Given the description of an element on the screen output the (x, y) to click on. 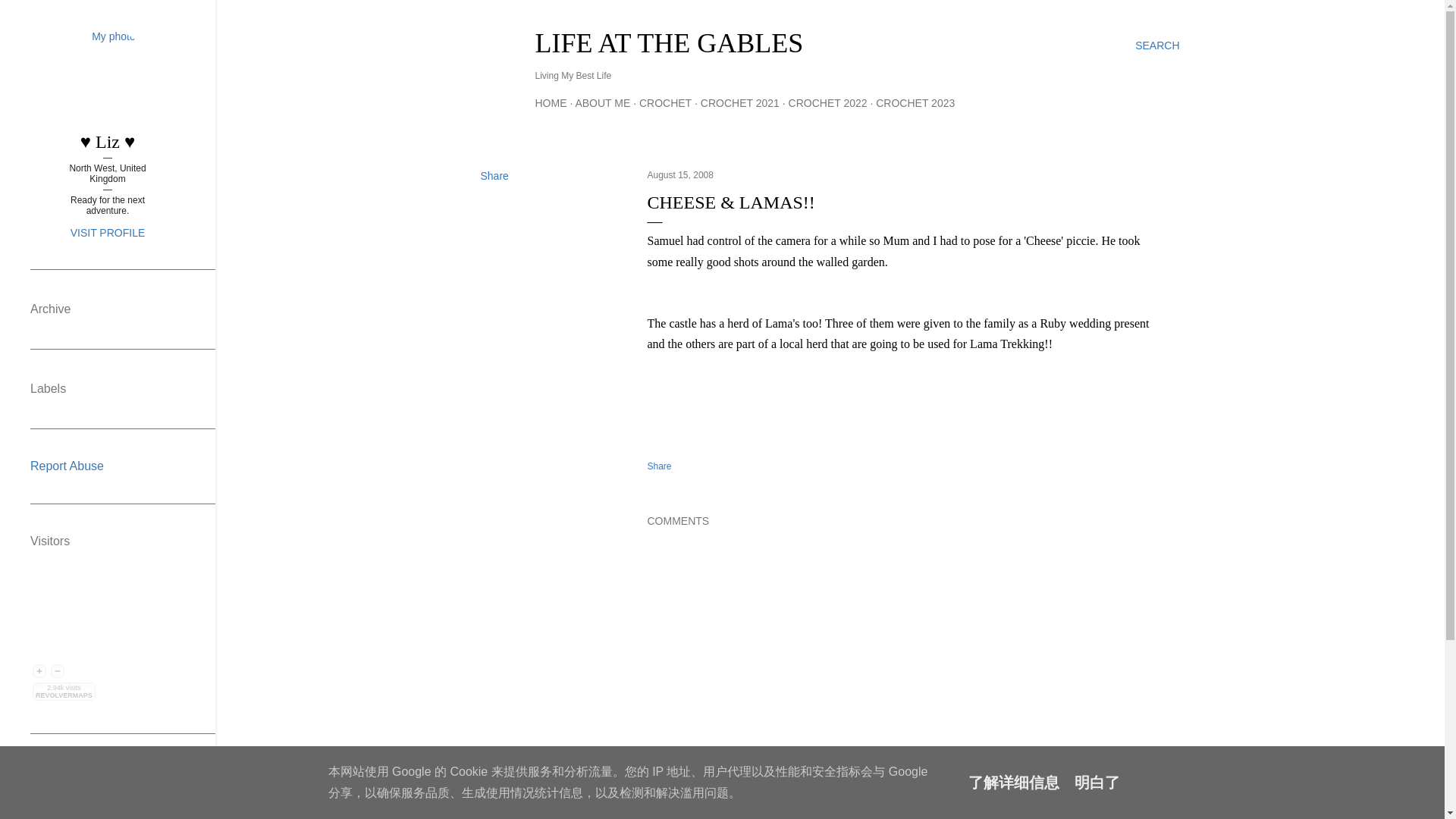
August 15, 2008 (680, 174)
LIFE AT THE GABLES (669, 42)
Share (659, 466)
CROCHET (665, 102)
CROCHET 2022 (828, 102)
VISIT PROFILE (107, 232)
ABOUT ME (602, 102)
permanent link (680, 174)
CROCHET 2023 (915, 102)
SEARCH (1157, 45)
Share (494, 175)
CROCHET 2021 (739, 102)
HOME (551, 102)
